Given the description of an element on the screen output the (x, y) to click on. 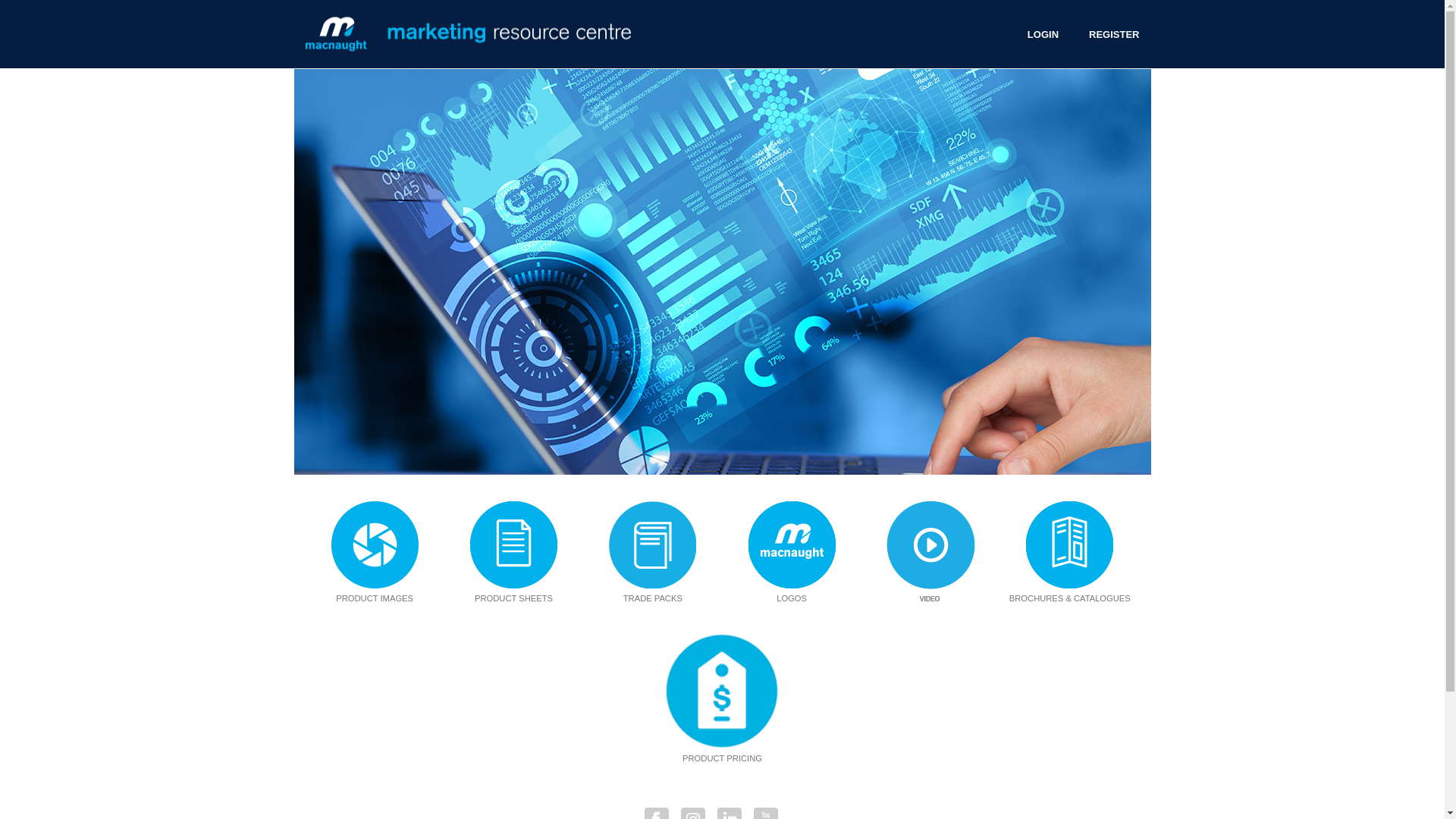
Marketing Resource Centre Element type: hover (467, 33)
LOGIN Element type: text (1042, 34)
REGISTER Element type: text (1113, 34)
